Given the description of an element on the screen output the (x, y) to click on. 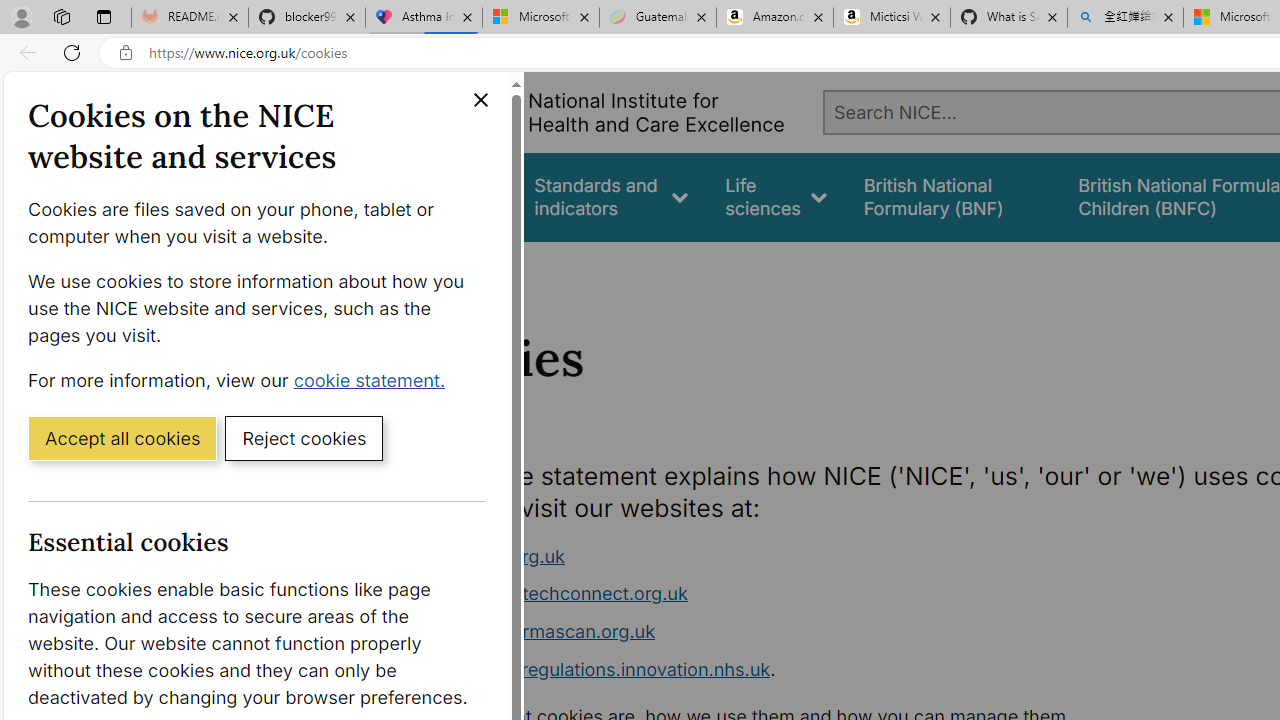
false (952, 196)
www.digitalregulations.innovation.nhs.uk. (796, 669)
Close cookie banner (480, 99)
cookie statement. (Opens in a new window) (373, 379)
Accept all cookies (122, 437)
www.ukpharmascan.org.uk (796, 632)
www.ukpharmascan.org.uk (538, 631)
